Given the description of an element on the screen output the (x, y) to click on. 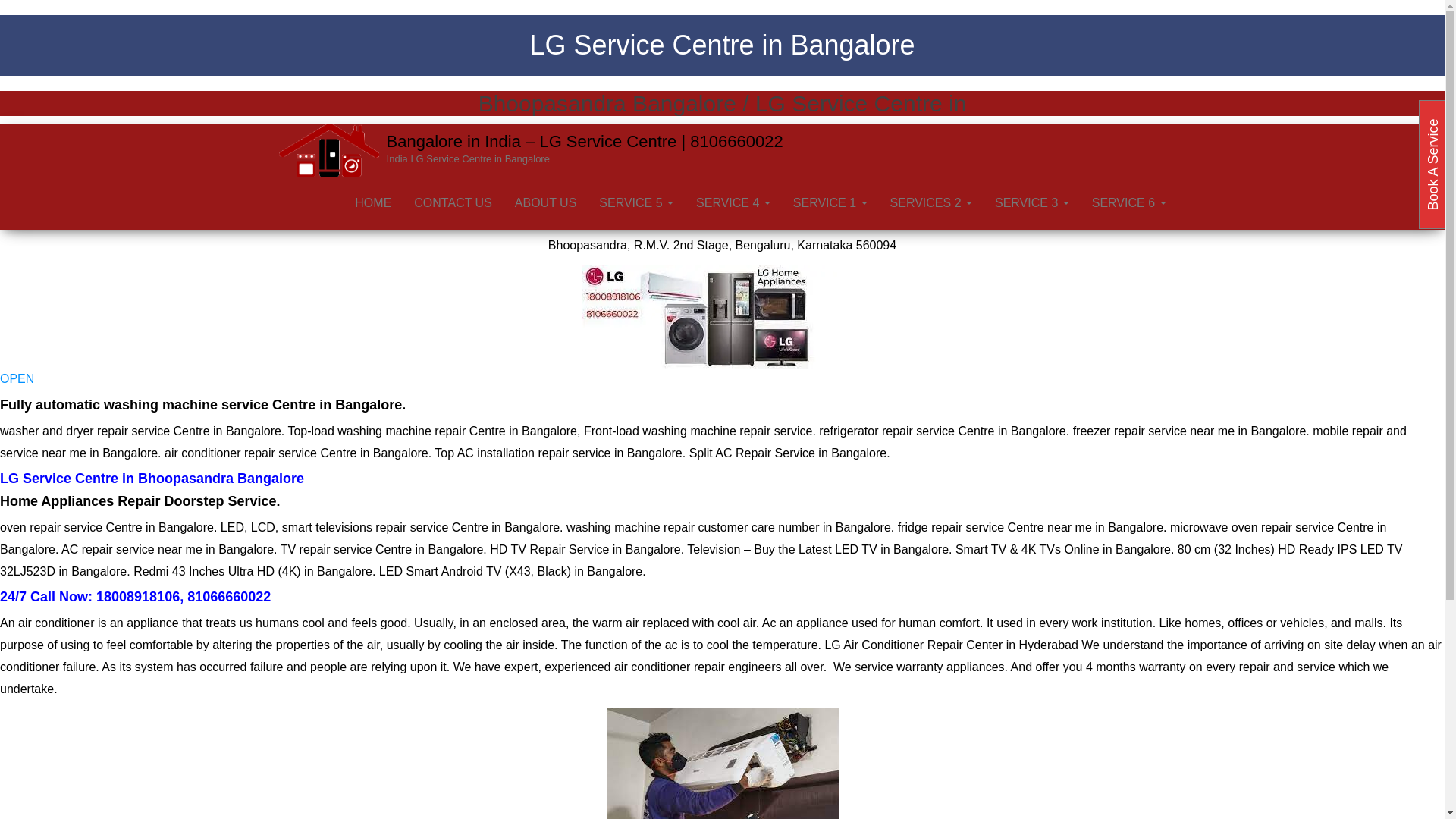
SERVICE 5 (636, 203)
Service 5 (636, 203)
About Us (545, 203)
Home (373, 203)
ABOUT US (545, 203)
HOME (373, 203)
CONTACT US (453, 203)
Contact Us (453, 203)
